Given the description of an element on the screen output the (x, y) to click on. 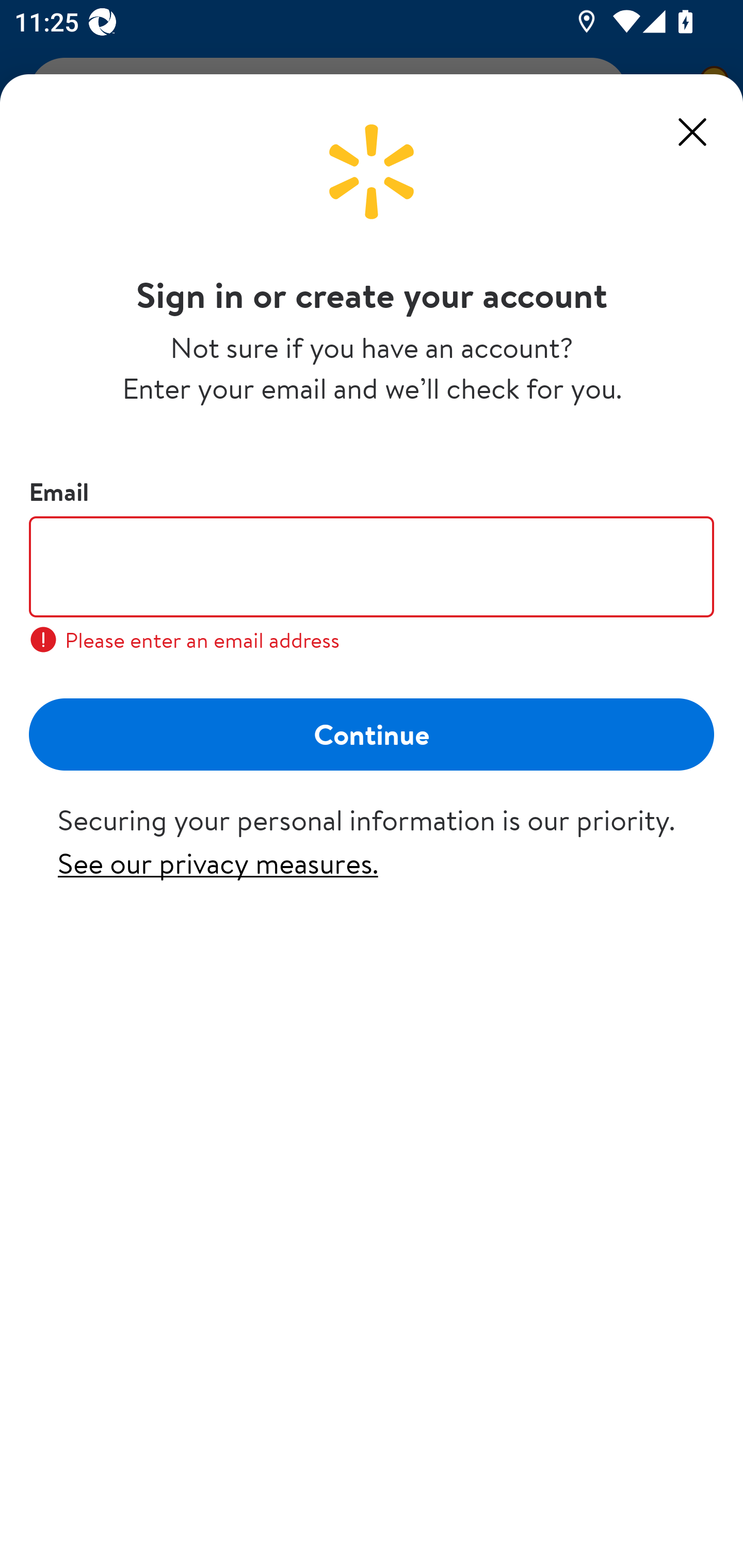
Close (692, 131)
Email (371, 566)
Continue (371, 733)
